Given the description of an element on the screen output the (x, y) to click on. 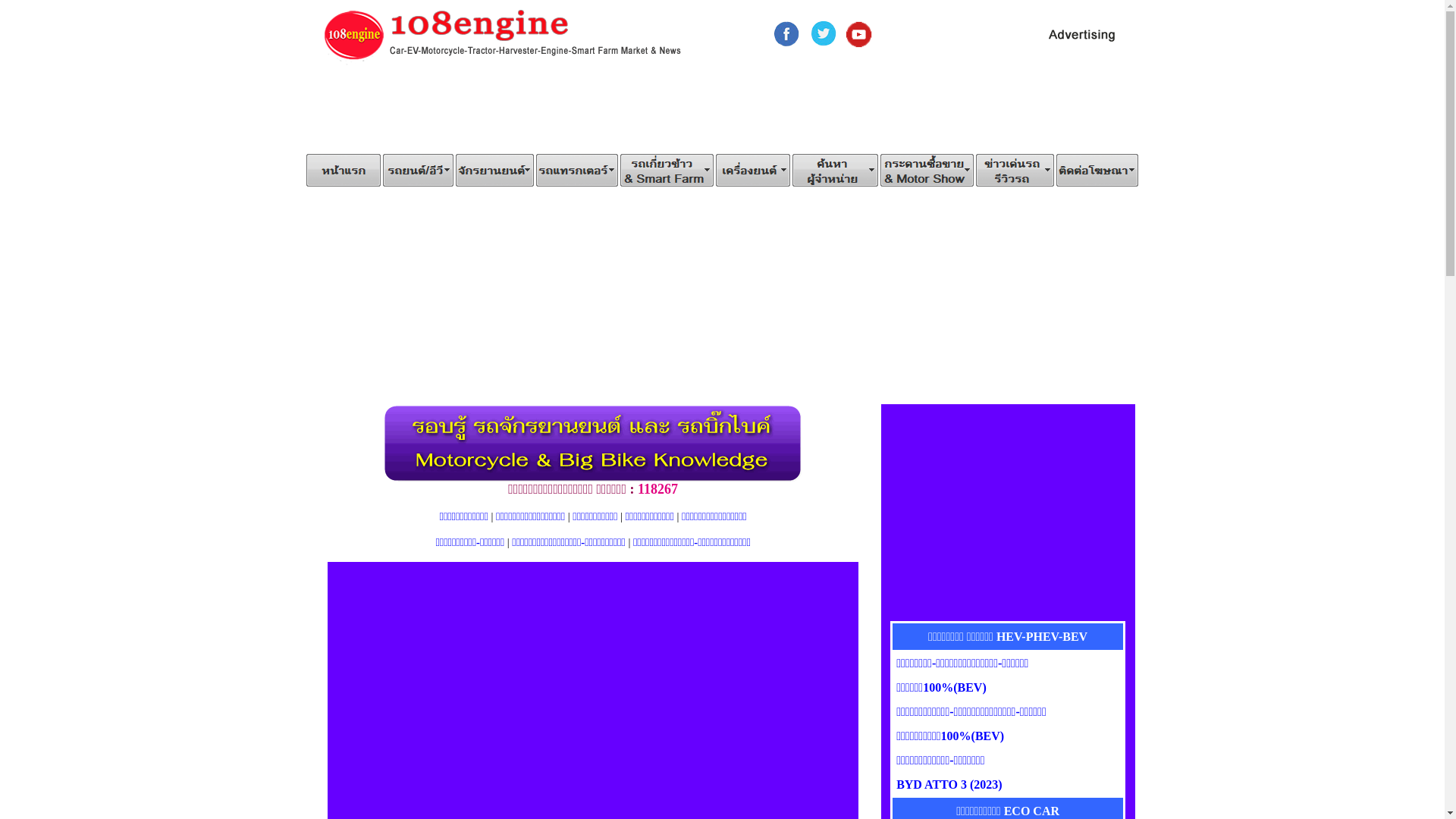
BYD ATTO 3 (2023) Element type: text (948, 784)
Advertisement Element type: hover (722, 295)
General Purpose Engine Element type: hover (752, 170)
 Car-Motorcycles-Tractor-Engine Dealer Element type: hover (834, 170)
Combine Harvester/Smart Farm Element type: hover (665, 170)
Car/EV Element type: hover (418, 170)
Facebook108engine Element type: hover (786, 33)
Advertising Element type: hover (1097, 170)
Advertisement Element type: hover (721, 111)
Twitter108engine Element type: hover (823, 33)
Advertise With Us Element type: hover (1082, 34)
Webboard /Motor Show Element type: hover (926, 170)
YouTube108engine Element type: hover (858, 33)
FarmTractors Element type: hover (576, 170)
Motorcycles/Big Bike Element type: hover (494, 170)
Home Element type: hover (342, 170)
Car's News/ Review Car Element type: hover (1014, 170)
Advertisement Element type: hover (1007, 513)
